Given the description of an element on the screen output the (x, y) to click on. 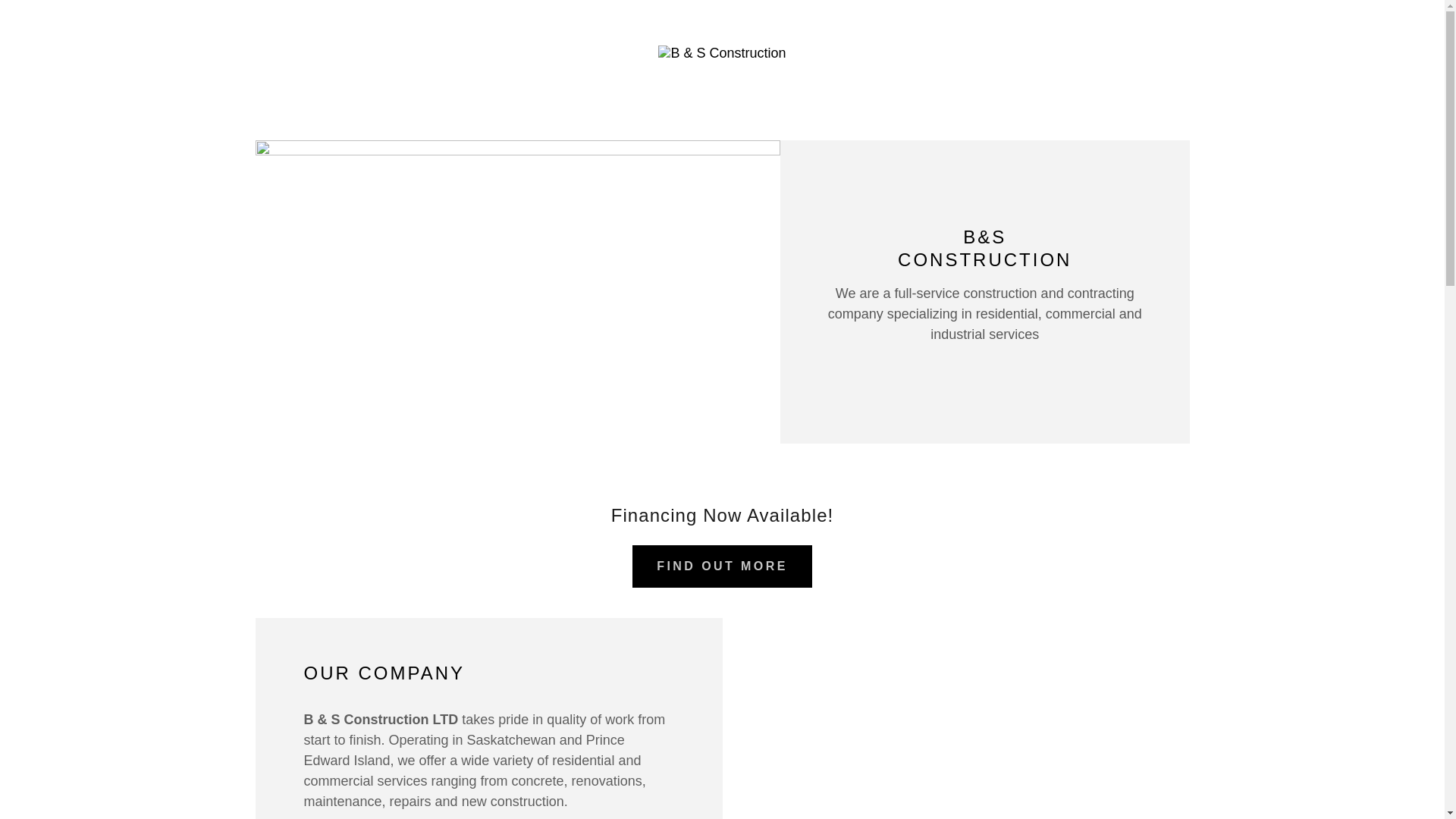
FIND OUT MORE Element type: text (722, 566)
B & S Construction Element type: hover (721, 51)
